Given the description of an element on the screen output the (x, y) to click on. 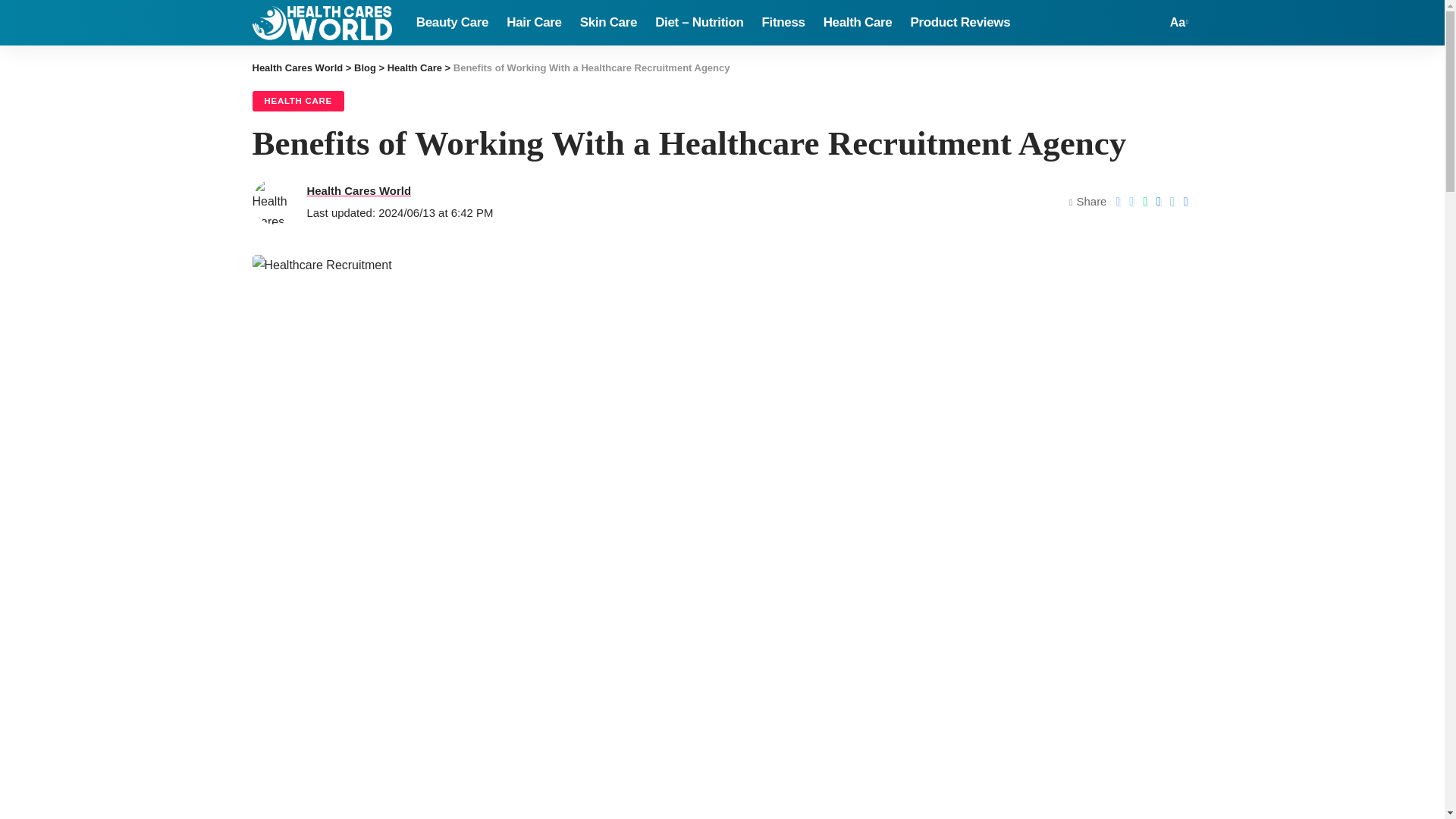
Health Cares World (321, 22)
Go to Blog. (364, 67)
Aa (1177, 22)
Fitness (782, 22)
Go to Health Cares World. (296, 67)
Product Reviews (960, 22)
Hair Care (533, 22)
Skin Care (608, 22)
Health Care (857, 22)
Go to the Health Care Category archives. (414, 67)
